Given the description of an element on the screen output the (x, y) to click on. 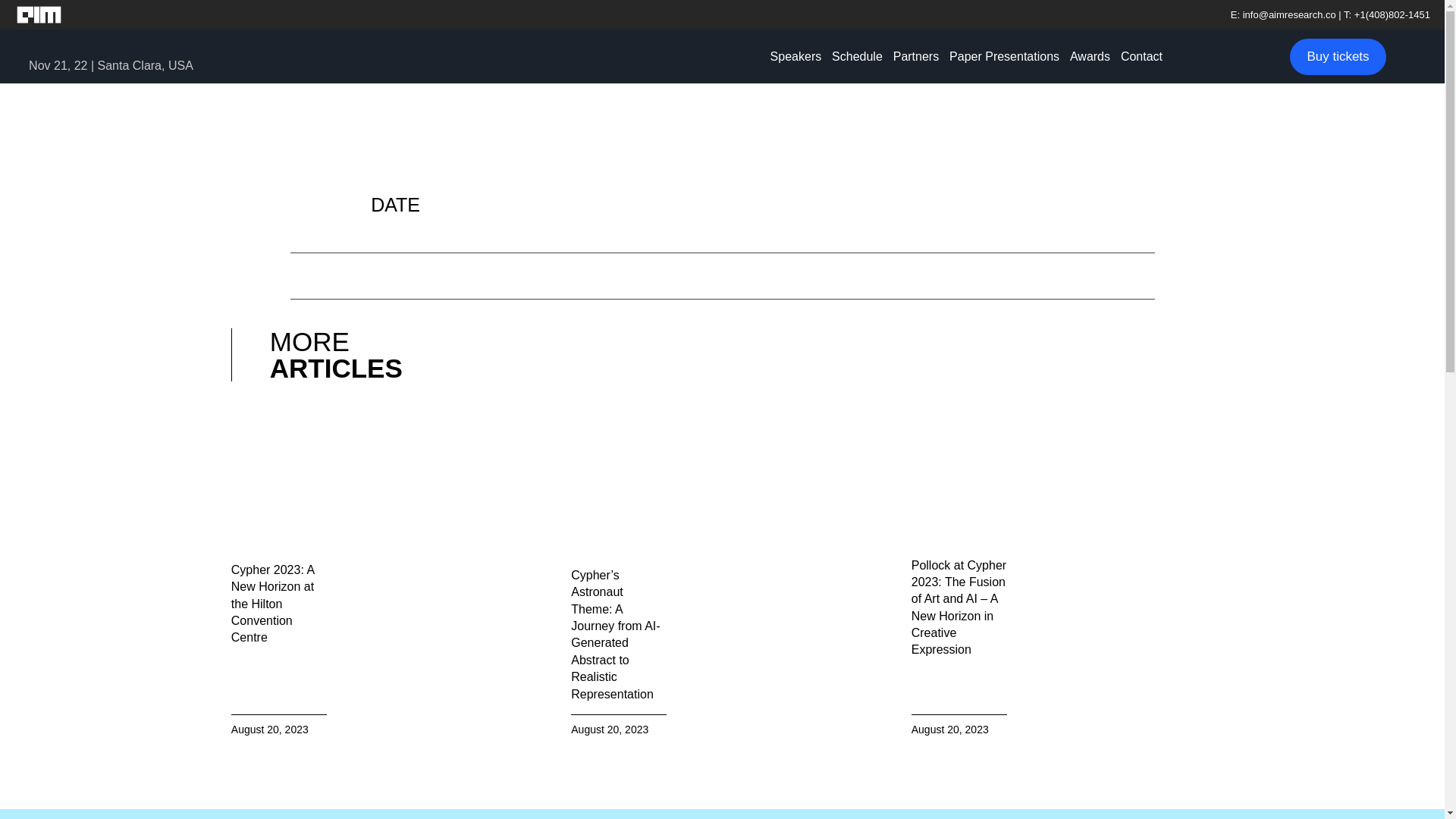
Buy tickets (1338, 56)
Paper Presentations (1003, 55)
Awards (1089, 55)
Partners (915, 55)
Contact (1141, 55)
Speakers (796, 55)
Cypher 2023: A New Horizon at the Hilton Convention Centre (272, 603)
Schedule (857, 55)
